Given the description of an element on the screen output the (x, y) to click on. 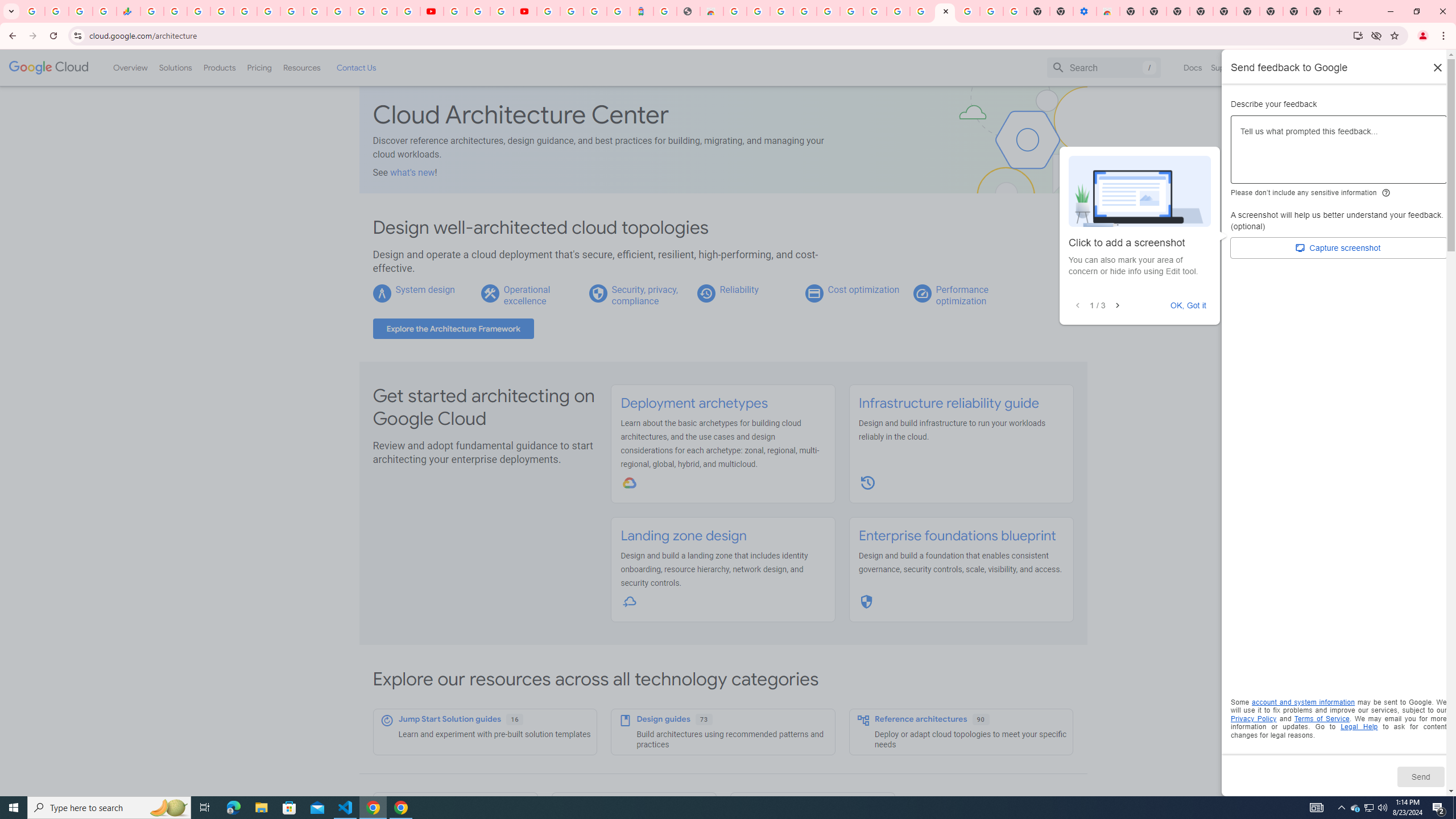
Atour Hotel - Google hotels (641, 11)
Google Account Help (992, 11)
Sign in - Google Accounts (547, 11)
English (1288, 67)
Contact Us (355, 67)
Infrastructure reliability guide (948, 402)
Create your Google Account (897, 11)
Next (1117, 305)
